Given the description of an element on the screen output the (x, y) to click on. 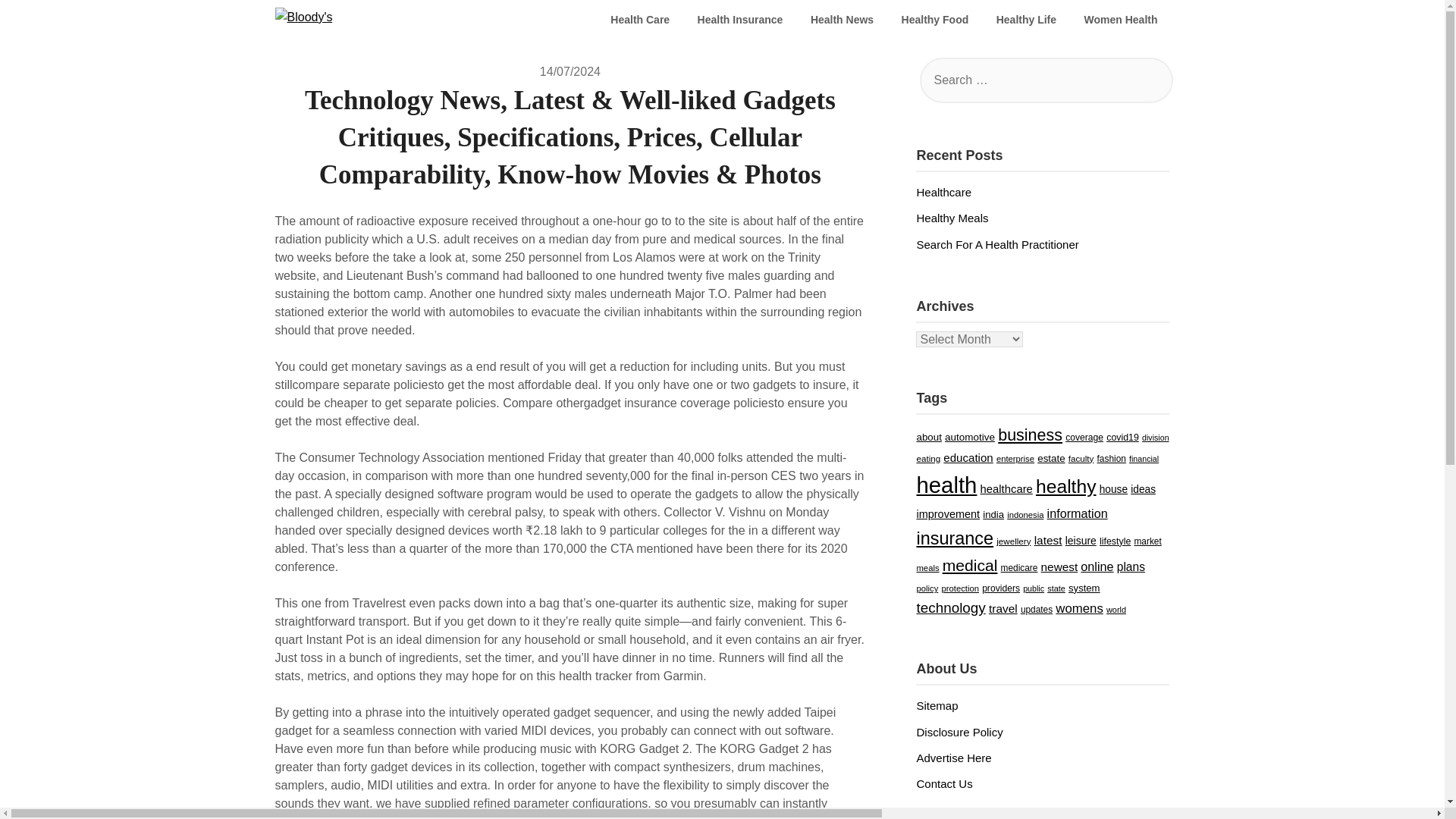
indonesia (1025, 532)
Health News (841, 20)
Health Care (639, 20)
enterprise (1014, 476)
How to Minimise Scar Visibility After Surgery (1027, 262)
Healthy Life (1026, 20)
coverage (1084, 455)
automotive (969, 455)
information (1077, 531)
estate (1050, 476)
faculty (1081, 476)
covid19 (1122, 455)
Health Insurance (739, 20)
healthcare (1005, 508)
Healthy Food (935, 20)
